Given the description of an element on the screen output the (x, y) to click on. 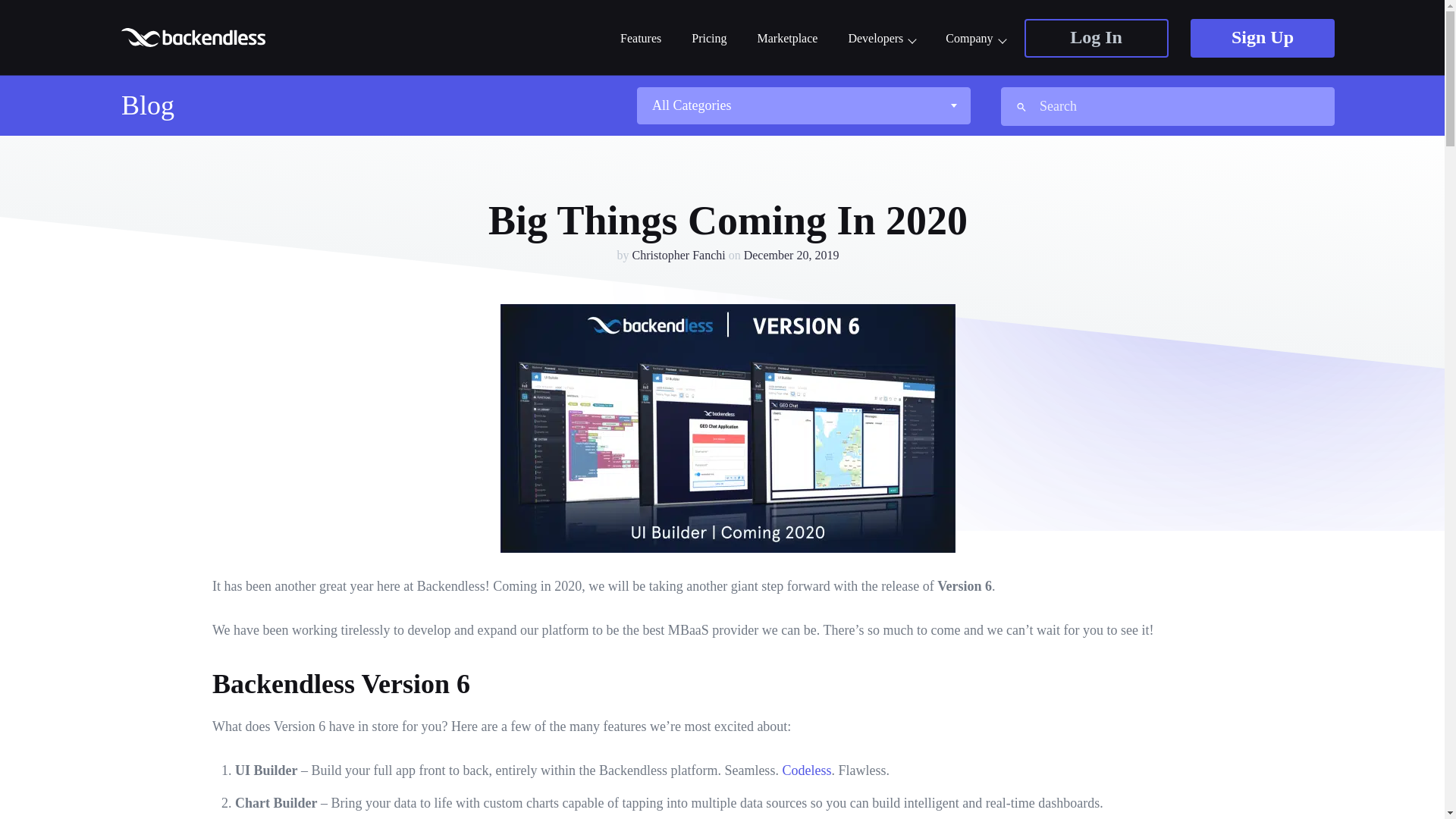
Marketplace (786, 38)
All Categories (802, 105)
Pricing (708, 38)
Posts by Christopher Fanchi (678, 255)
Features (640, 38)
Log In (1095, 37)
Developers (881, 38)
Sign Up (1263, 37)
Backendless (194, 36)
Backendless (194, 36)
Company (974, 38)
